Given the description of an element on the screen output the (x, y) to click on. 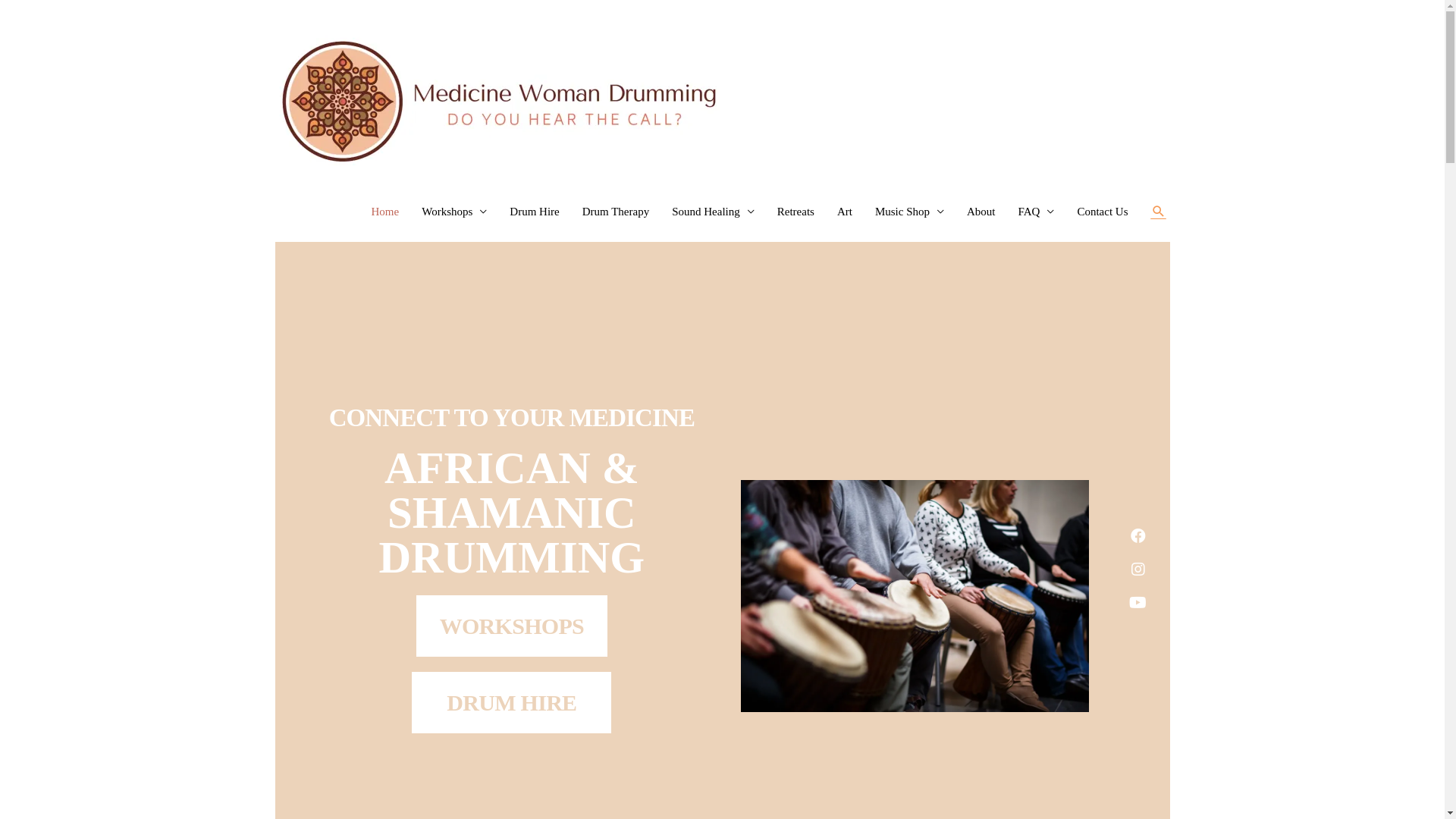
Instagram Element type: text (1137, 569)
Home Element type: text (385, 211)
FAQ Element type: text (1036, 211)
Retreats Element type: text (795, 211)
Art Element type: text (844, 211)
Contact Us Element type: text (1102, 211)
Drum Hire Element type: text (534, 211)
Workshops Element type: text (454, 211)
Search Element type: text (1158, 211)
Drum Therapy Element type: text (615, 211)
Facebook Element type: text (1137, 535)
Music Shop Element type: text (909, 211)
About Element type: text (981, 211)
Sound Healing Element type: text (712, 211)
Youtube Element type: text (1137, 602)
WORKSHOPS Element type: text (511, 625)
DRUM HIRE Element type: text (511, 702)
